Given the description of an element on the screen output the (x, y) to click on. 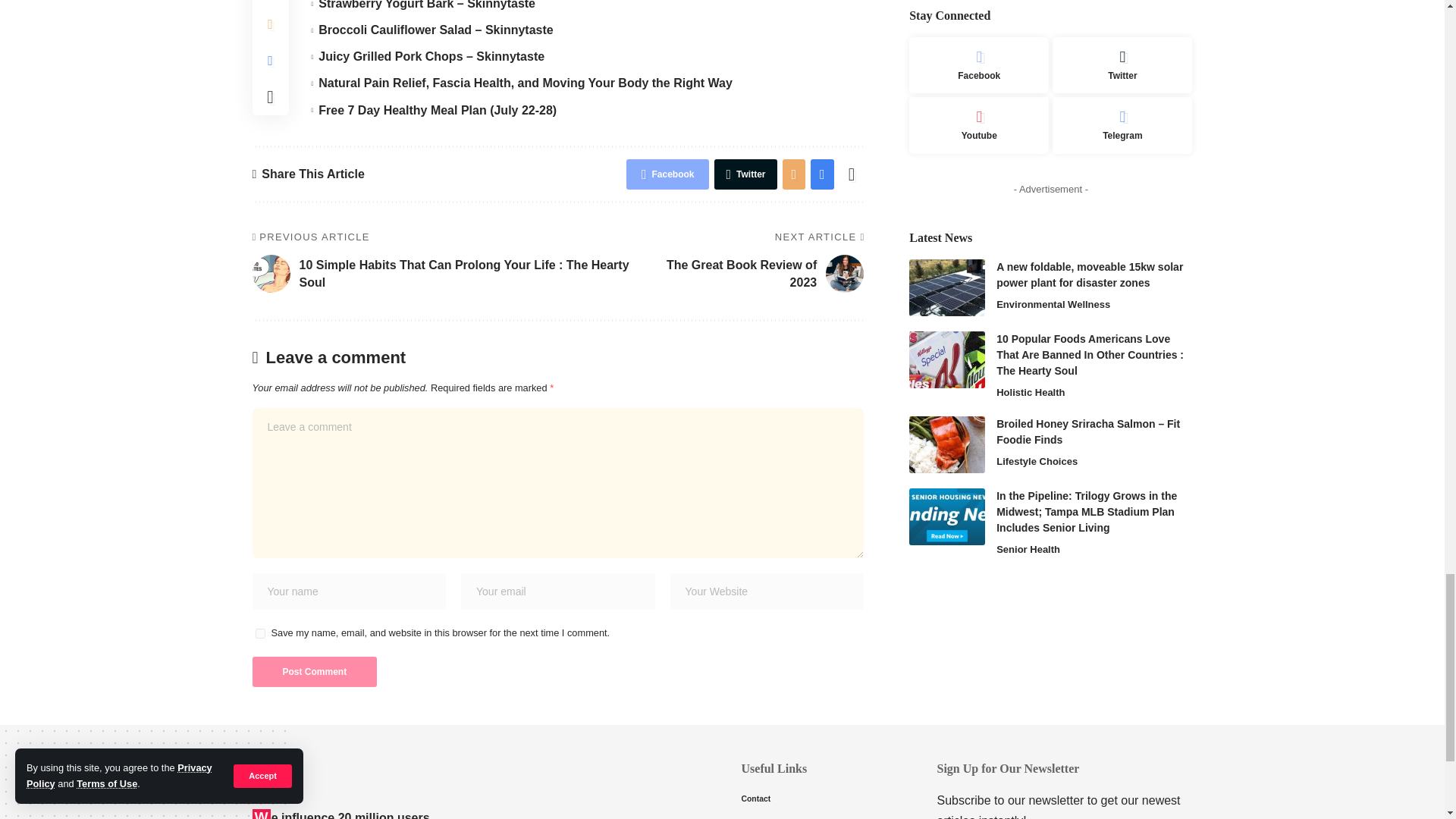
Post Comment (314, 671)
yes (259, 633)
